Given the description of an element on the screen output the (x, y) to click on. 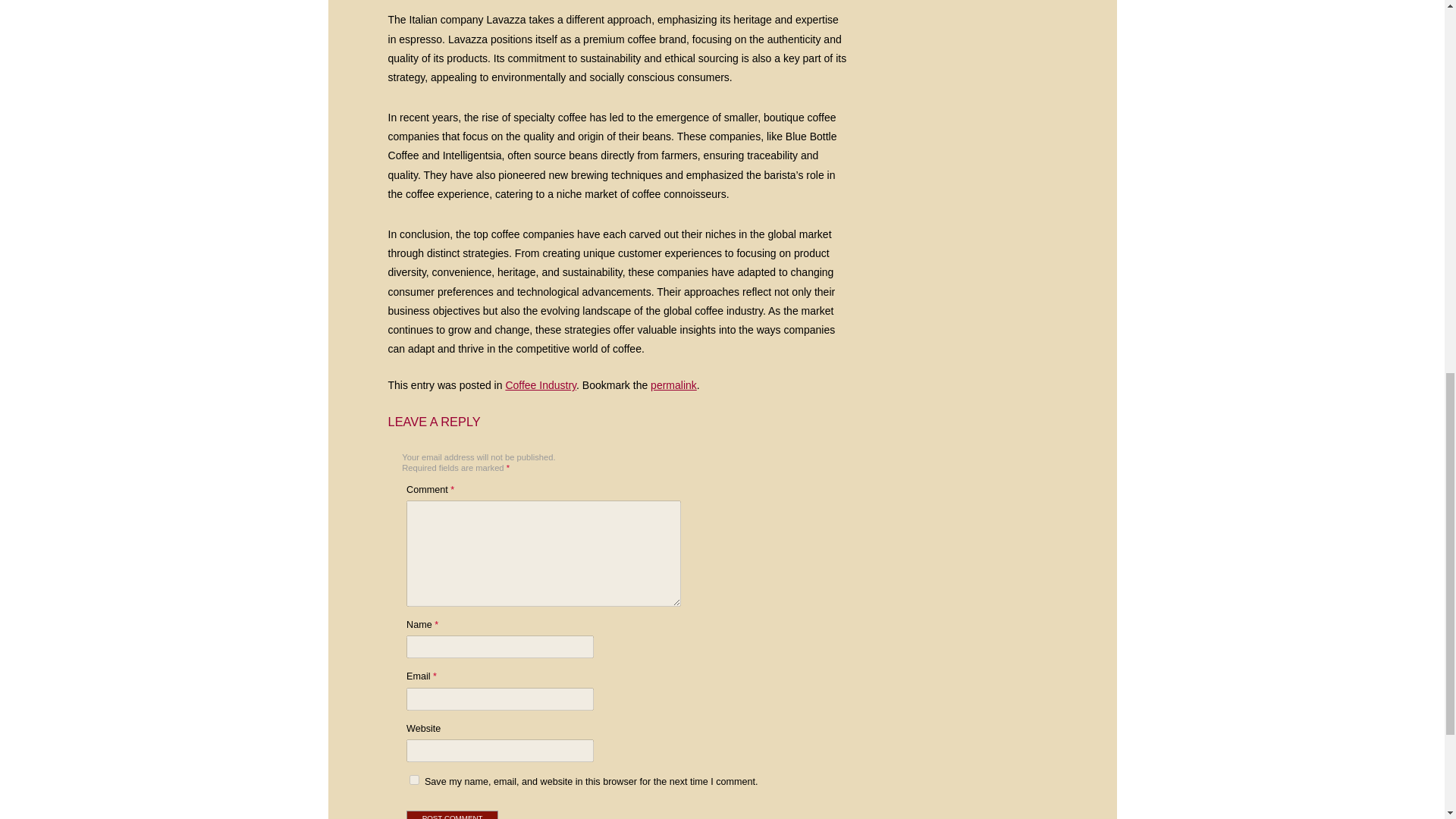
yes (414, 779)
Post Comment (451, 814)
Coffee Industry (540, 385)
permalink (673, 385)
Post Comment (451, 814)
